Given the description of an element on the screen output the (x, y) to click on. 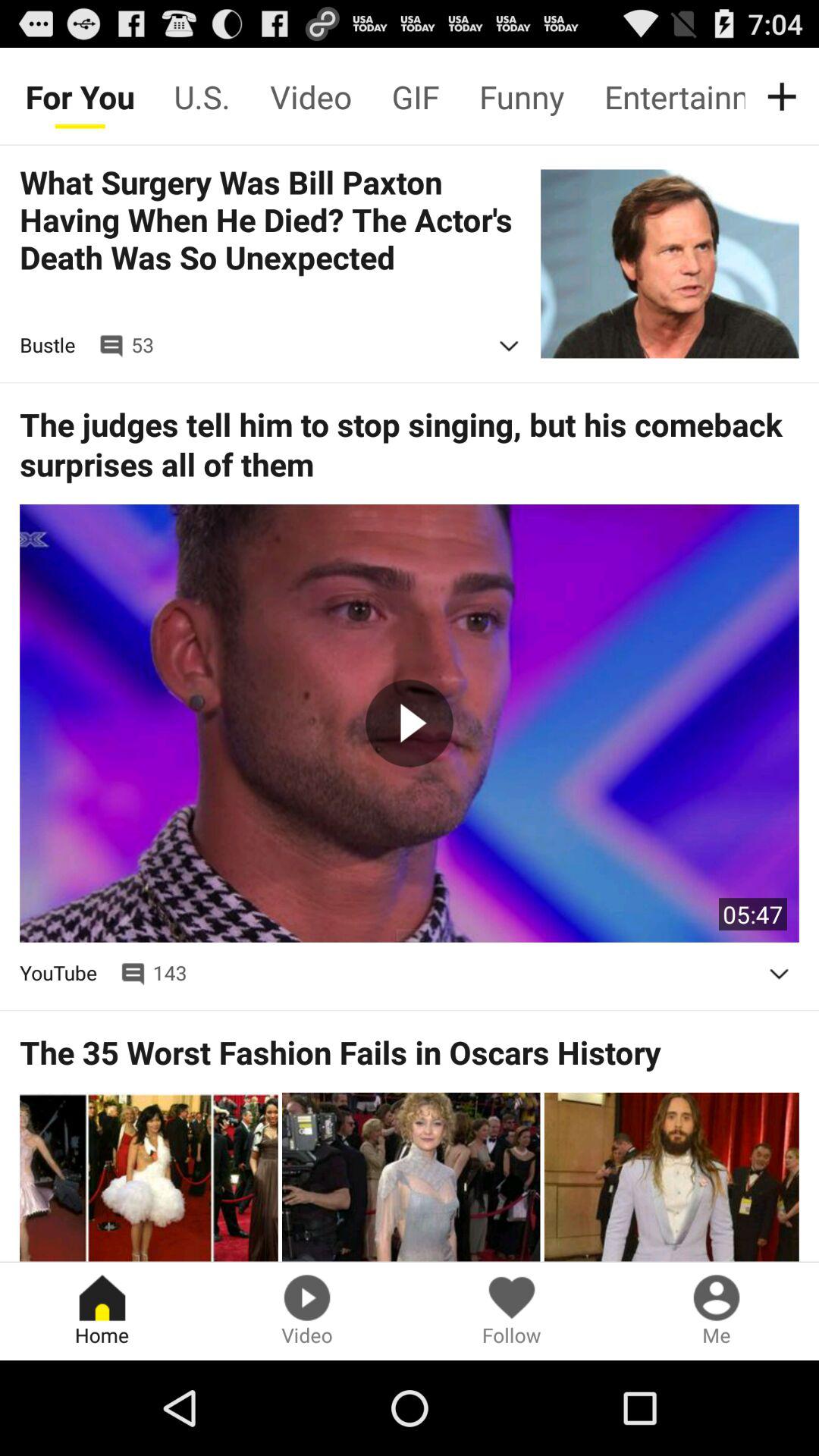
expand article (508, 346)
